Given the description of an element on the screen output the (x, y) to click on. 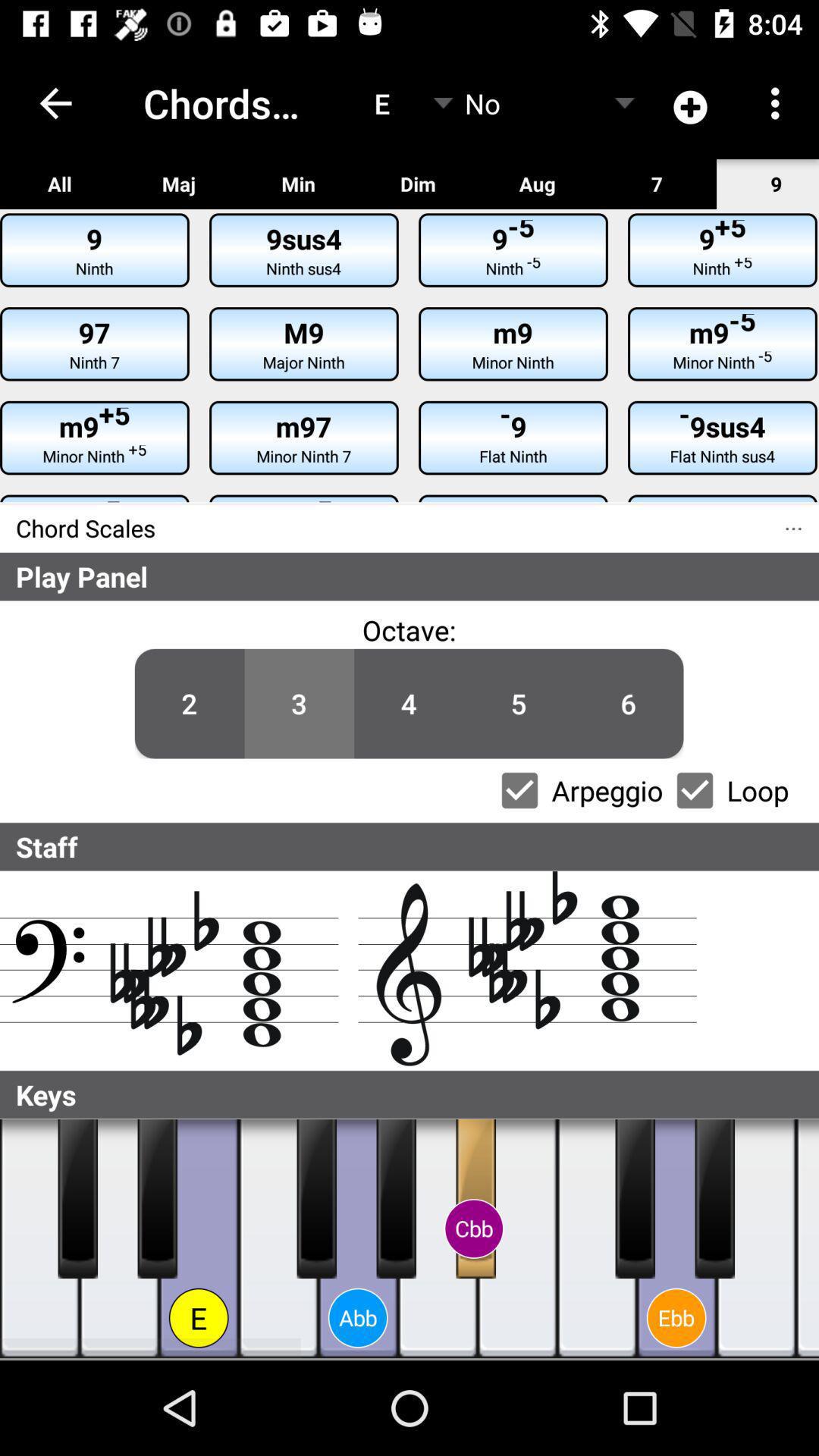
loop option (694, 790)
